Given the description of an element on the screen output the (x, y) to click on. 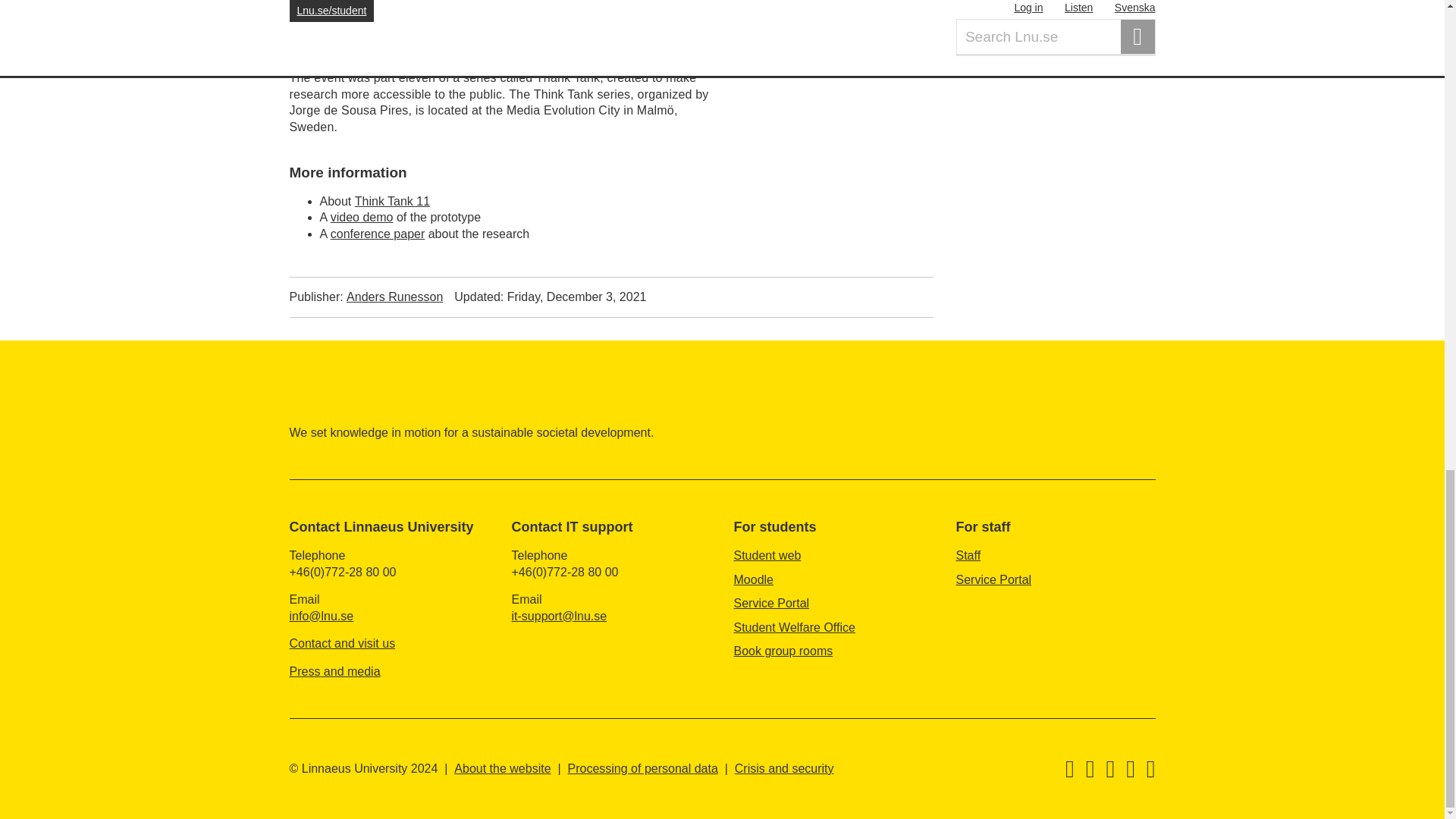
Think Tank 11 (392, 201)
conference paper (377, 233)
video demo (361, 216)
Updated (550, 297)
Student Welfare Office (794, 626)
Publisher (366, 297)
